Given the description of an element on the screen output the (x, y) to click on. 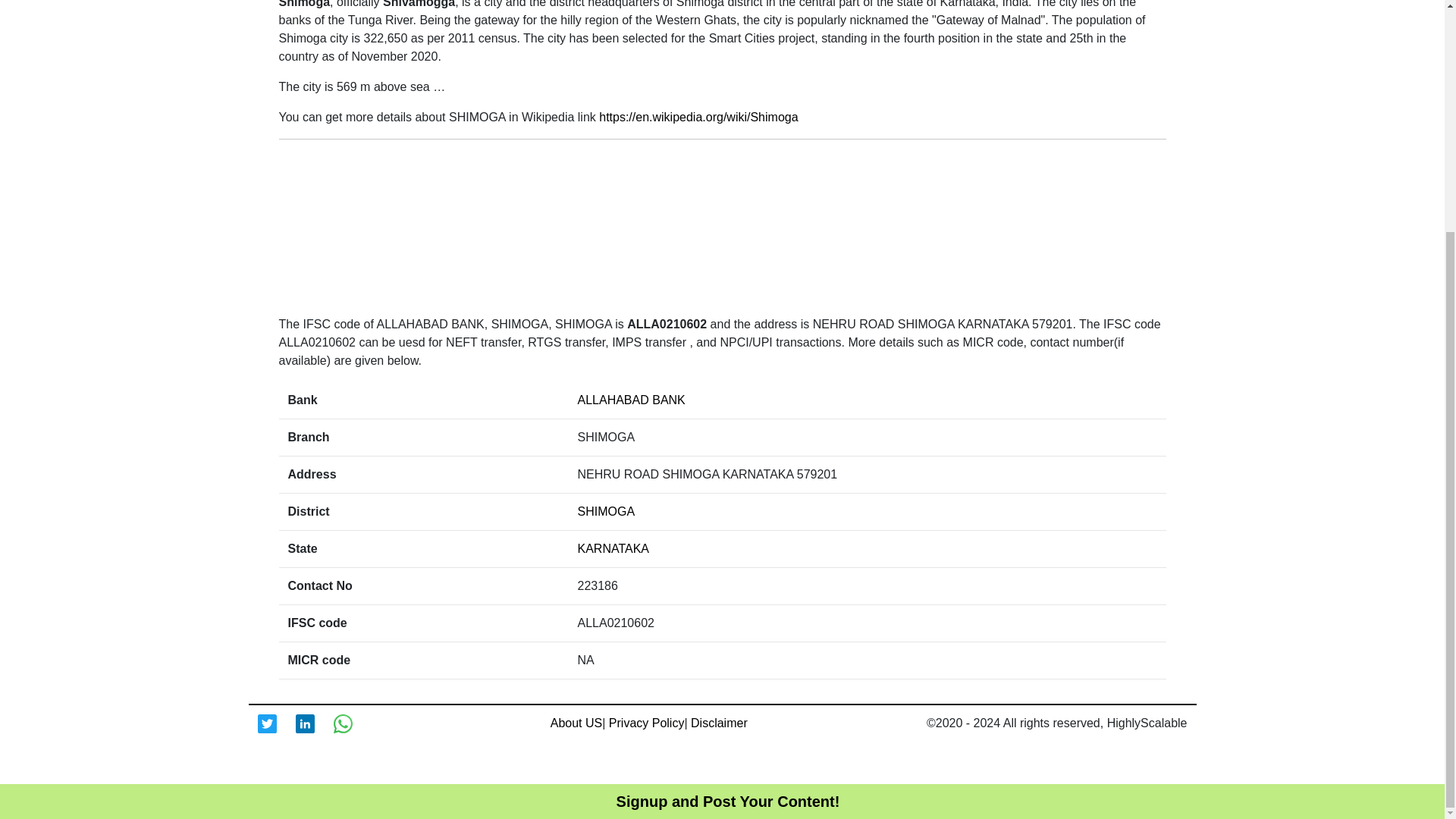
Signup and Post Your Content! (727, 486)
SHIMOGA (606, 511)
ALLAHABAD BANK (631, 399)
Sticky footer container (727, 486)
KARNATAKA (613, 548)
Disclaimer (719, 722)
About US (576, 722)
Privacy Policy (646, 722)
